Given the description of an element on the screen output the (x, y) to click on. 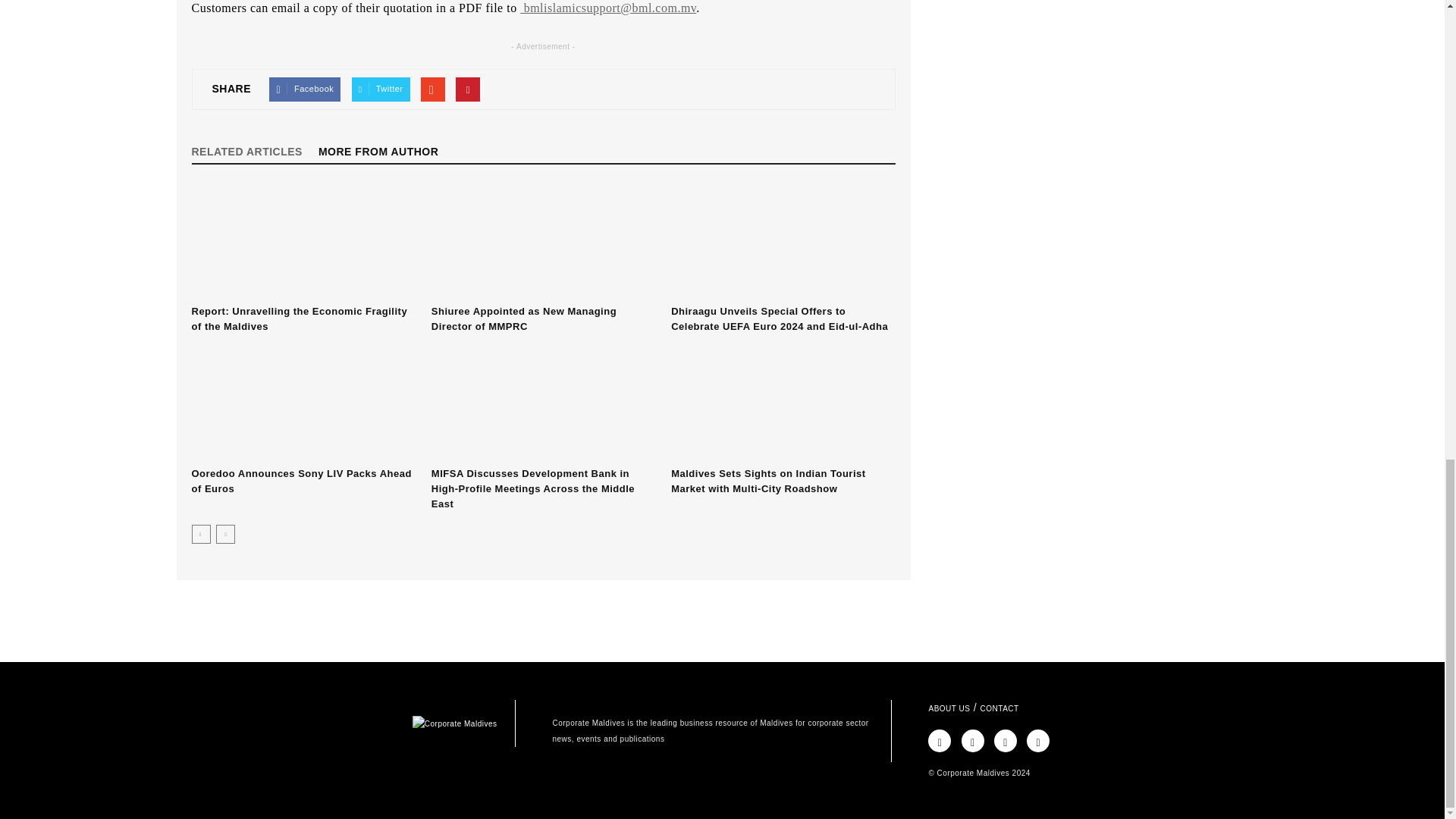
Ooredoo Announces Sony LIV Packs Ahead of Euros (300, 480)
Shiuree Appointed as New Managing Director of MMPRC (542, 241)
Report: Unravelling the Economic Fragility of the Maldives (298, 318)
Facebook (304, 88)
Twitter (381, 88)
Report: Unravelling the Economic Fragility of the Maldives (302, 241)
Shiuree Appointed as New Managing Director of MMPRC (522, 318)
Ooredoo Announces Sony LIV Packs Ahead of Euros (302, 404)
